Given the description of an element on the screen output the (x, y) to click on. 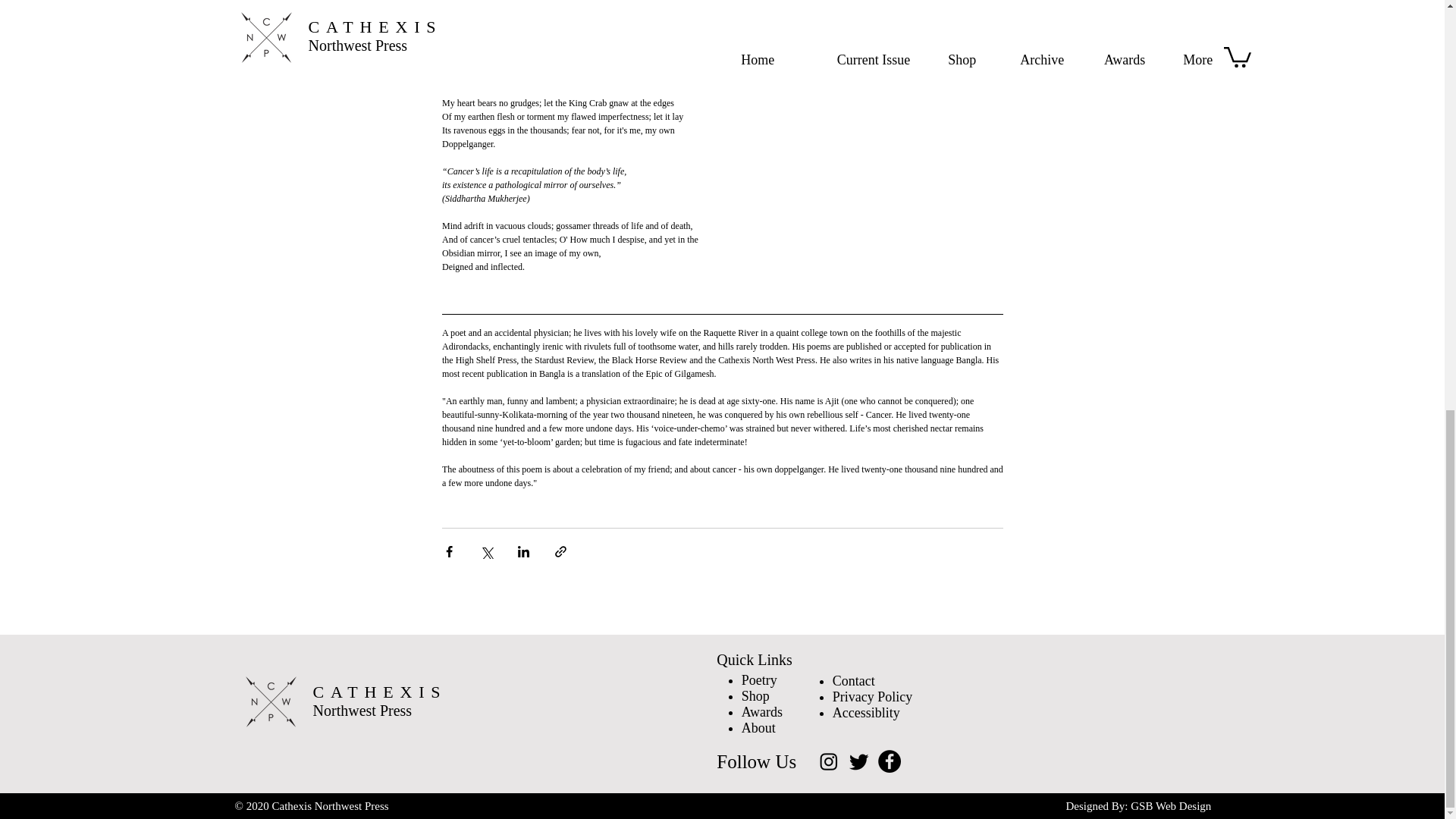
Northwest Press (362, 710)
Contact (853, 680)
About (758, 727)
Poetry (759, 679)
Awards (762, 711)
Privacy Policy (872, 696)
Accessiblity (865, 712)
Shop (755, 695)
CATHEXIS (379, 691)
